Given the description of an element on the screen output the (x, y) to click on. 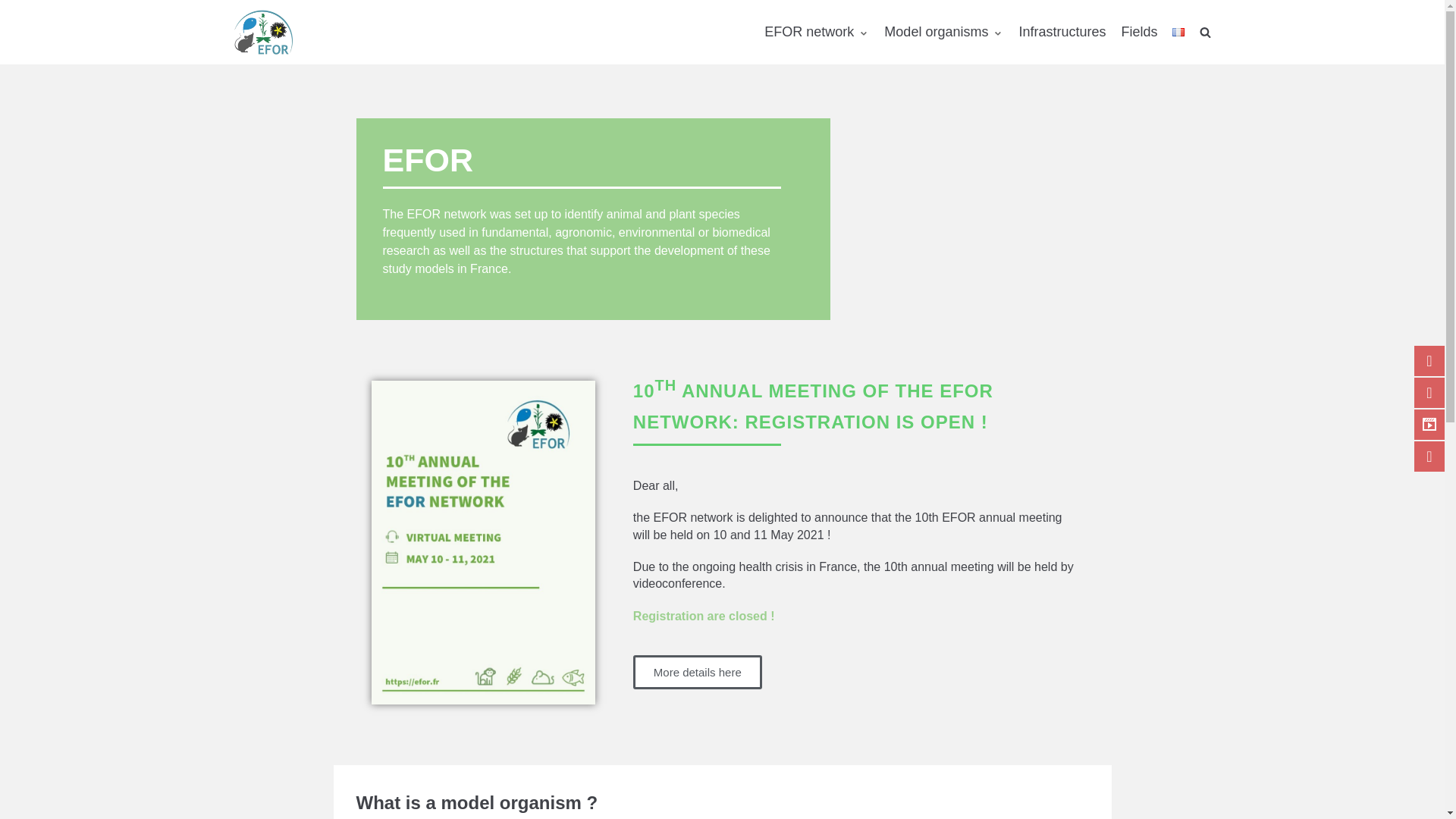
EFOR (263, 31)
Model organisms (943, 31)
EFOR network (816, 31)
Skip to content (15, 7)
